Given the description of an element on the screen output the (x, y) to click on. 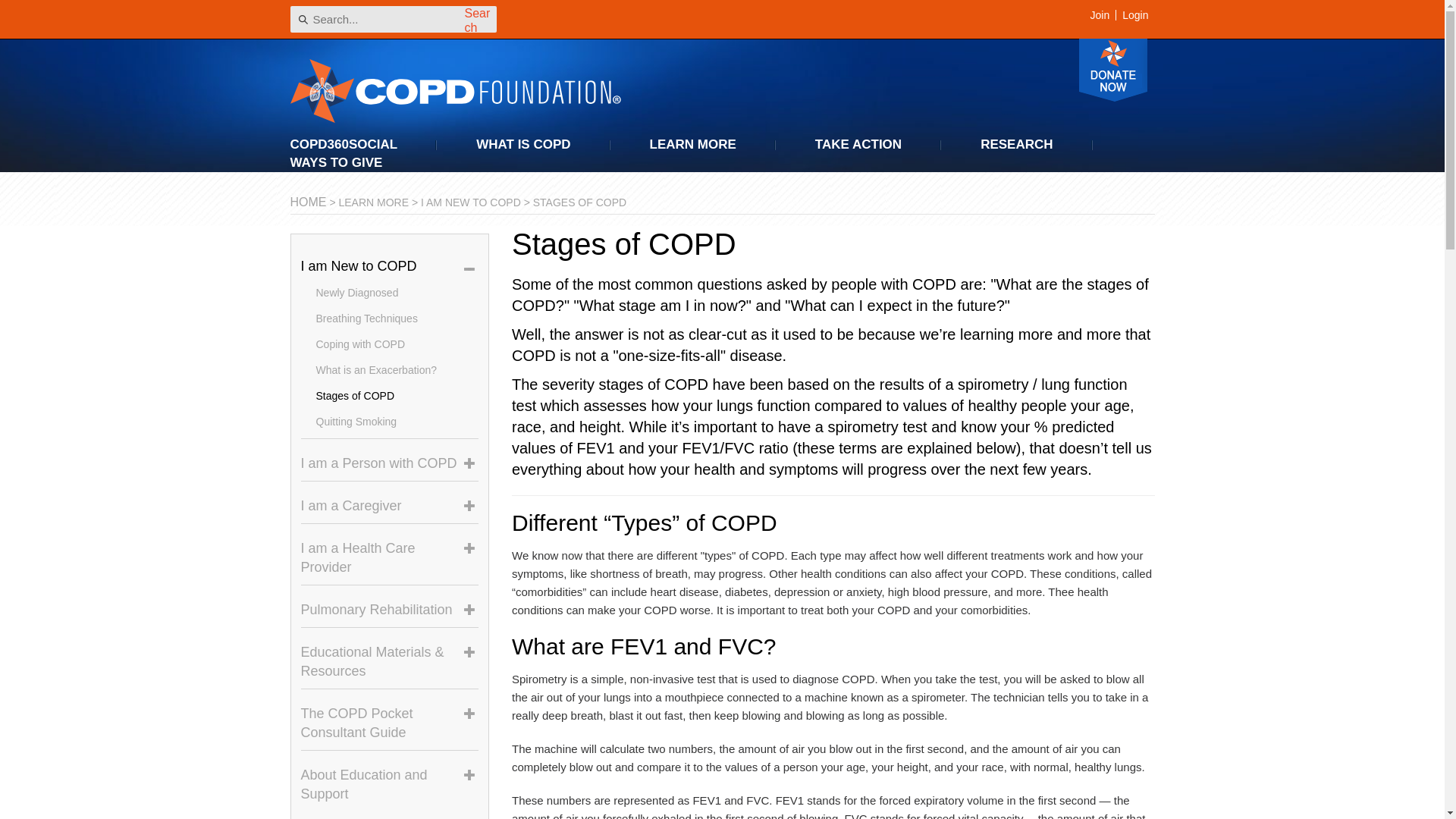
Login (1134, 14)
Join (1100, 14)
Search (479, 18)
Donate (1112, 69)
Clear search text (481, 17)
